Given the description of an element on the screen output the (x, y) to click on. 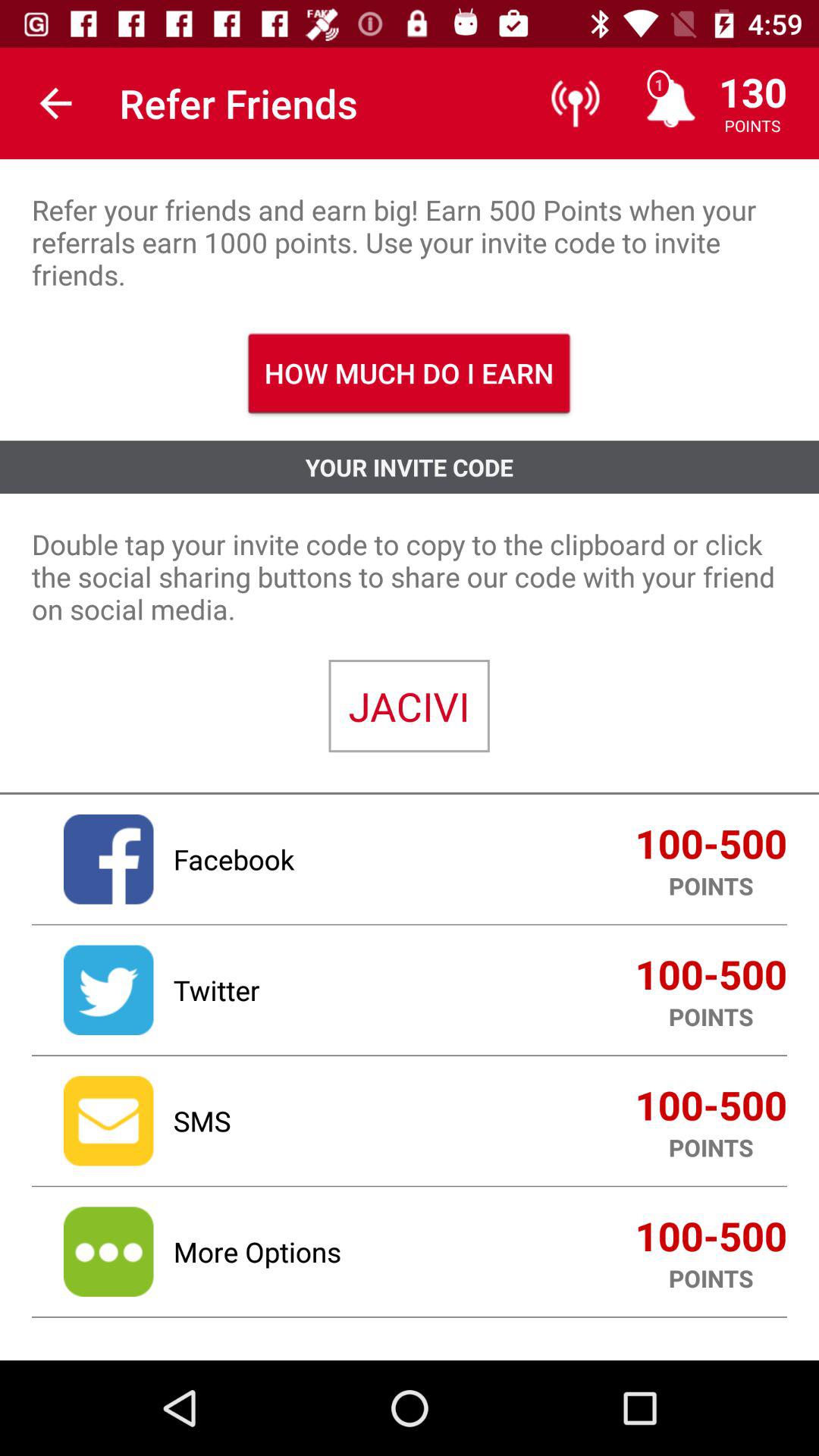
turn off the jacivi item (408, 705)
